Given the description of an element on the screen output the (x, y) to click on. 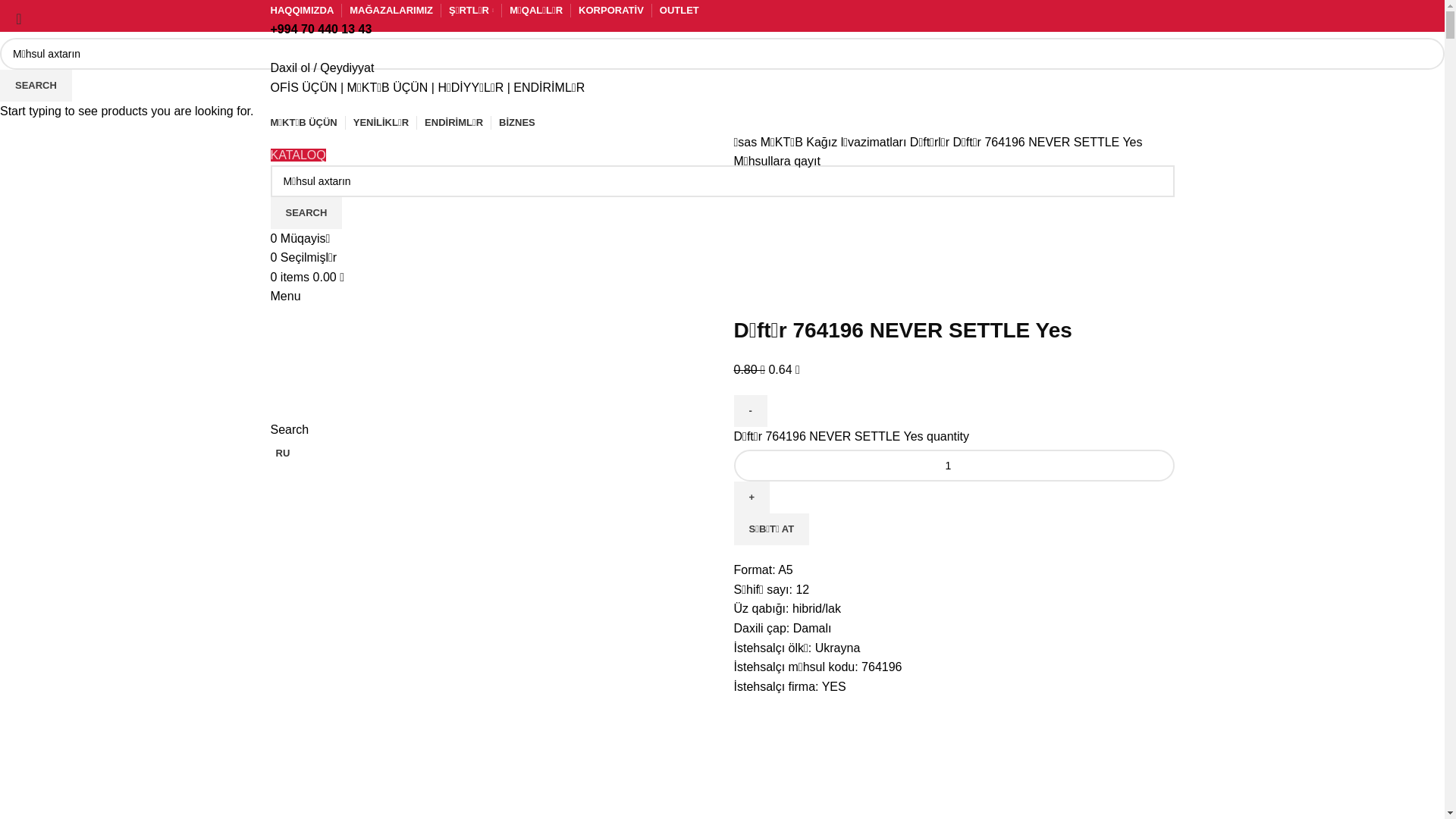
SEARCH Element type: text (305, 213)
OUTLET Element type: text (679, 10)
YES Element type: hover (847, 243)
Menu Element type: text (284, 295)
Search Element type: text (288, 429)
RU Element type: text (279, 453)
BIZNES Element type: text (516, 122)
Daxil ol / Qeydiyyat Element type: text (321, 67)
RU Element type: text (279, 52)
HAQQIMIZDA Element type: text (301, 10)
SEARCH Element type: text (36, 85)
KORPORATIV Element type: text (610, 10)
